Given the description of an element on the screen output the (x, y) to click on. 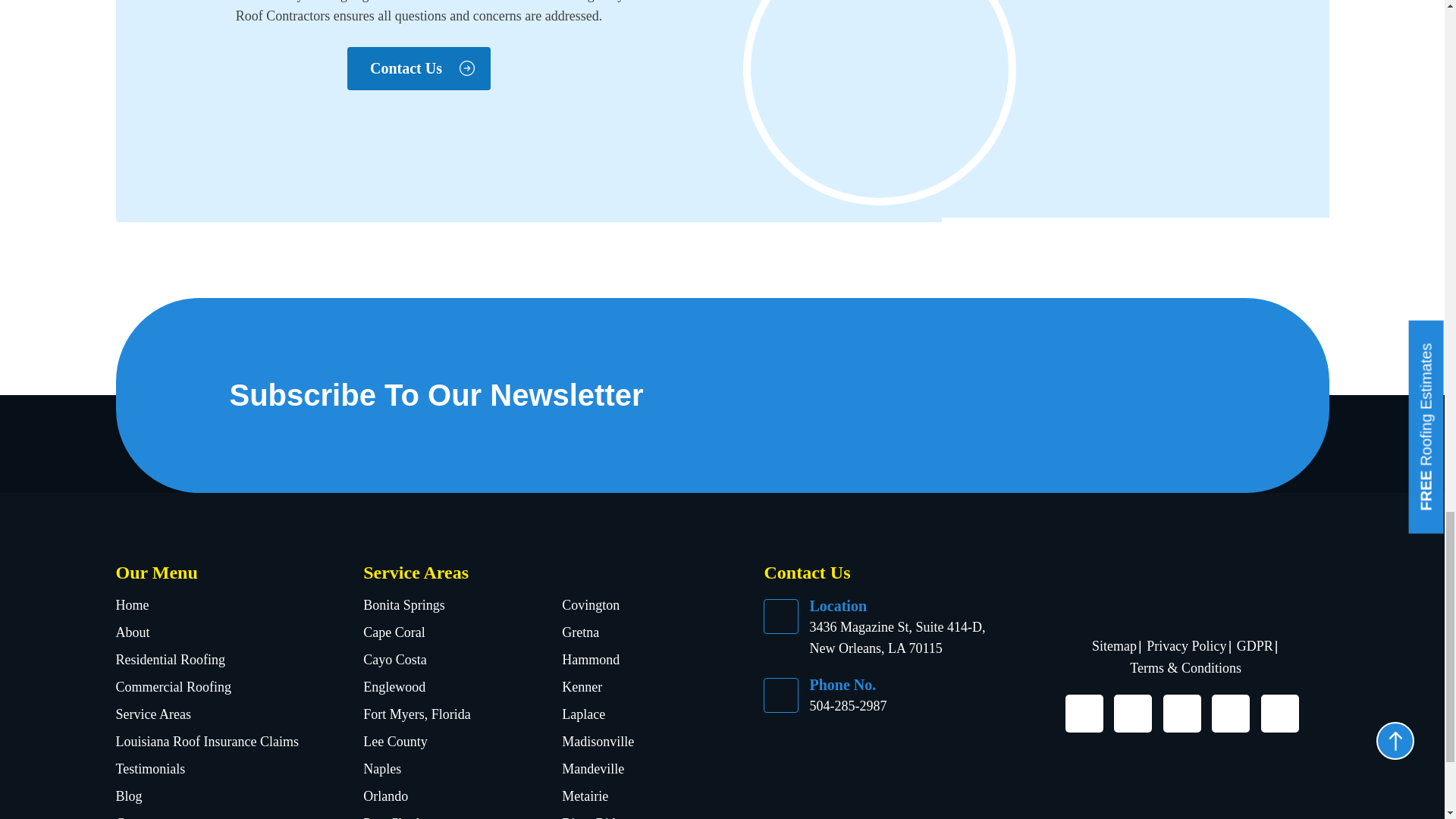
residential roof repairs by big easy roof contractors (1085, 110)
Newsletter (1012, 392)
consultation-img-2 (880, 99)
footer-logo (1186, 586)
